Given the description of an element on the screen output the (x, y) to click on. 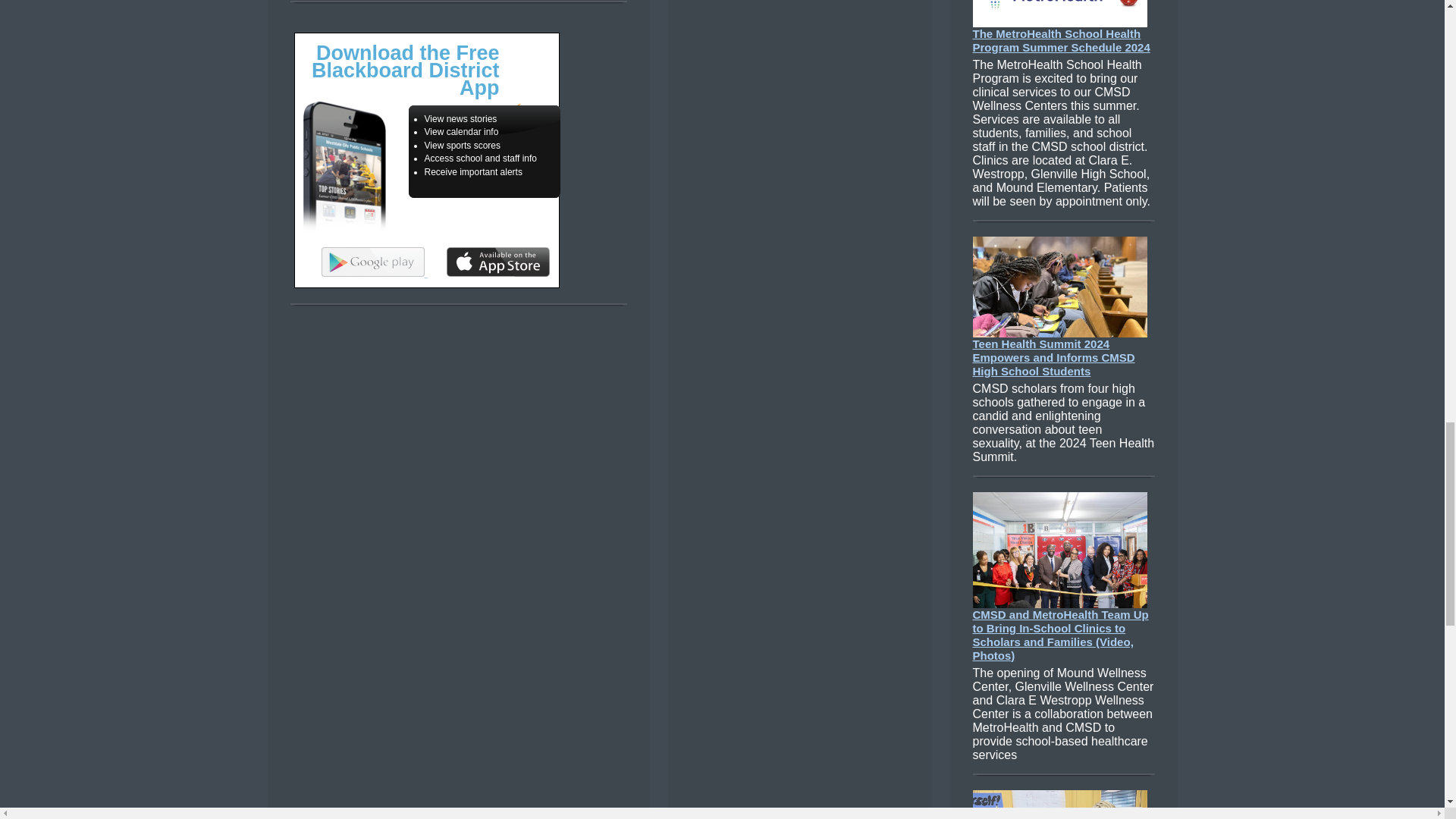
Download from the App Store (498, 261)
Phone with app (343, 166)
Download from Google Play (373, 261)
